Given the description of an element on the screen output the (x, y) to click on. 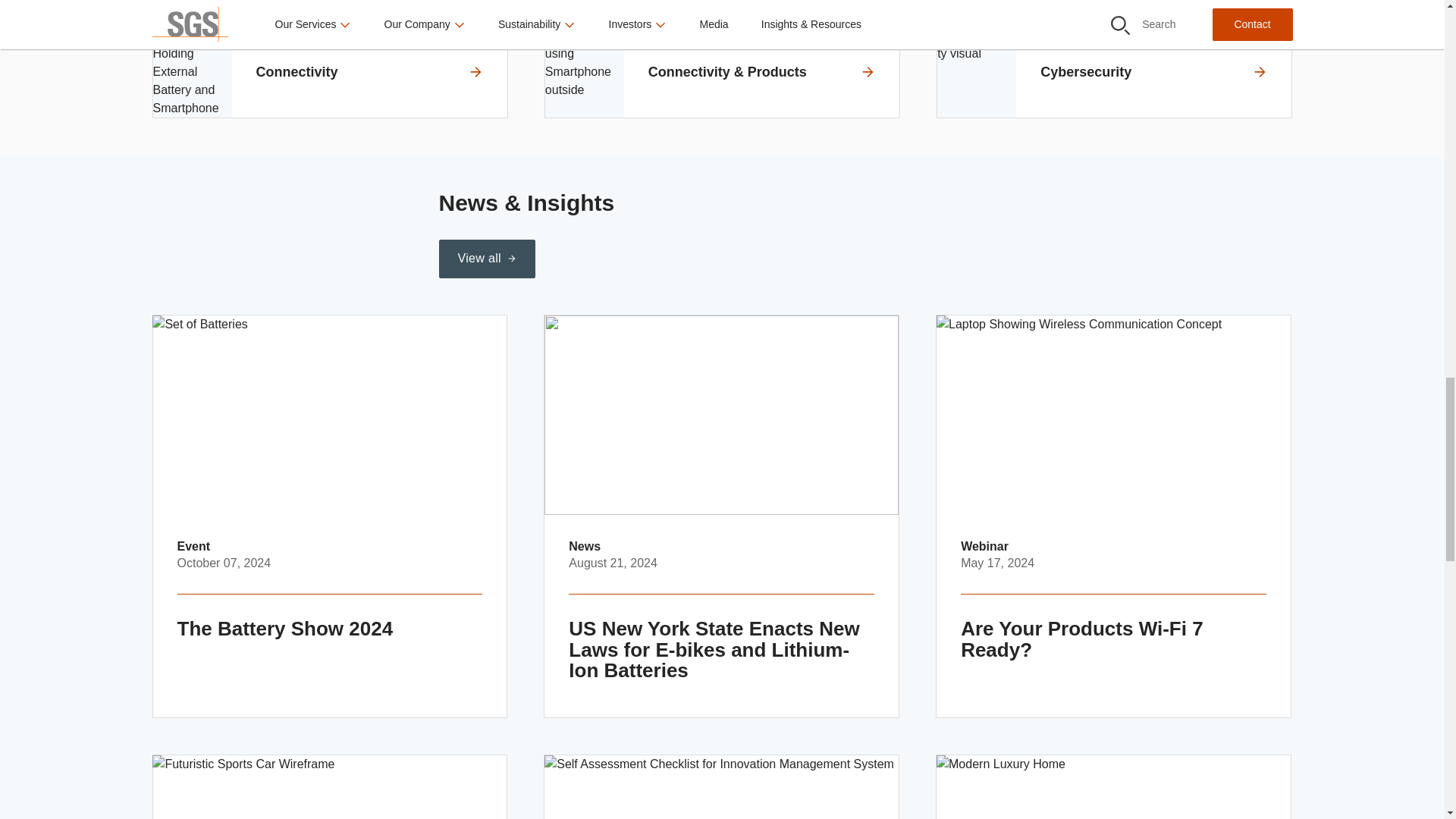
View all (486, 258)
Cybersecurity (1114, 71)
Connectivity (329, 71)
